Given the description of an element on the screen output the (x, y) to click on. 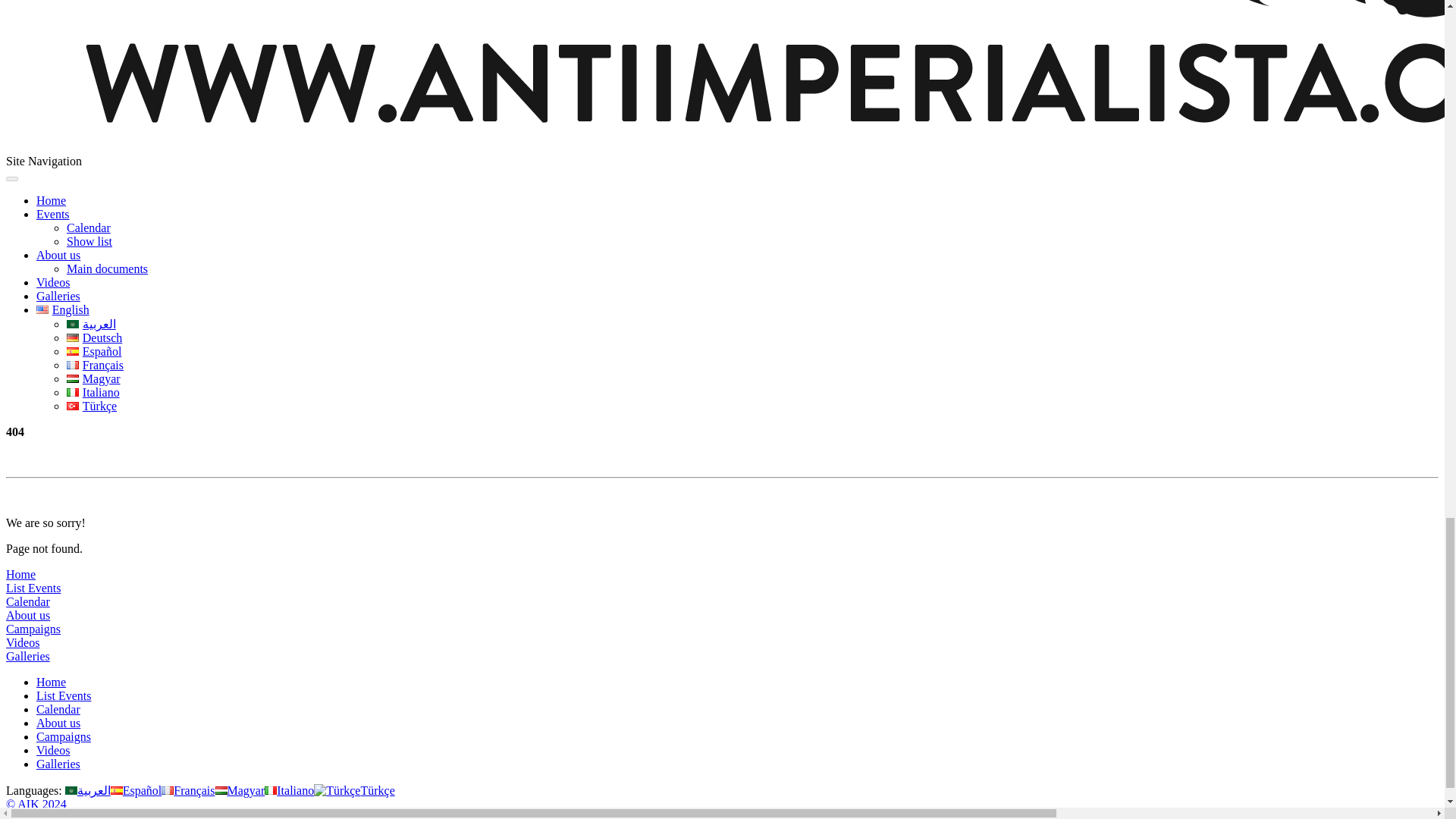
List Events (33, 587)
Home (50, 200)
Magyar (93, 378)
Calendar (88, 227)
Events (52, 214)
About us (58, 254)
Italiano (289, 789)
Italiano (92, 391)
Calendar (27, 601)
Main documents (107, 268)
